Given the description of an element on the screen output the (x, y) to click on. 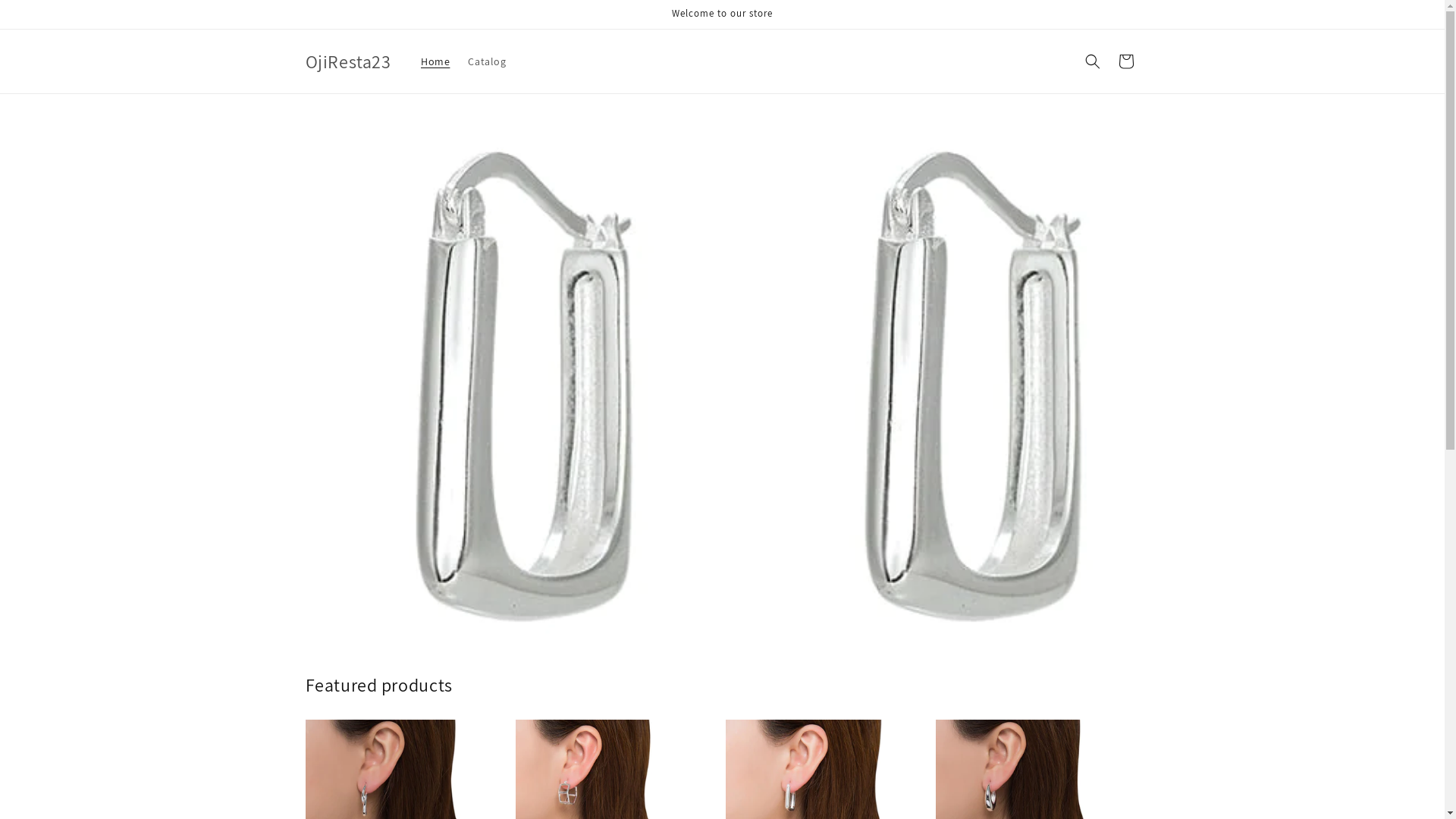
Shop all Element type: text (722, 553)
OjiResta23 Element type: text (347, 61)
Home Element type: text (434, 61)
Cart Element type: text (1125, 61)
Catalog Element type: text (486, 61)
